Given the description of an element on the screen output the (x, y) to click on. 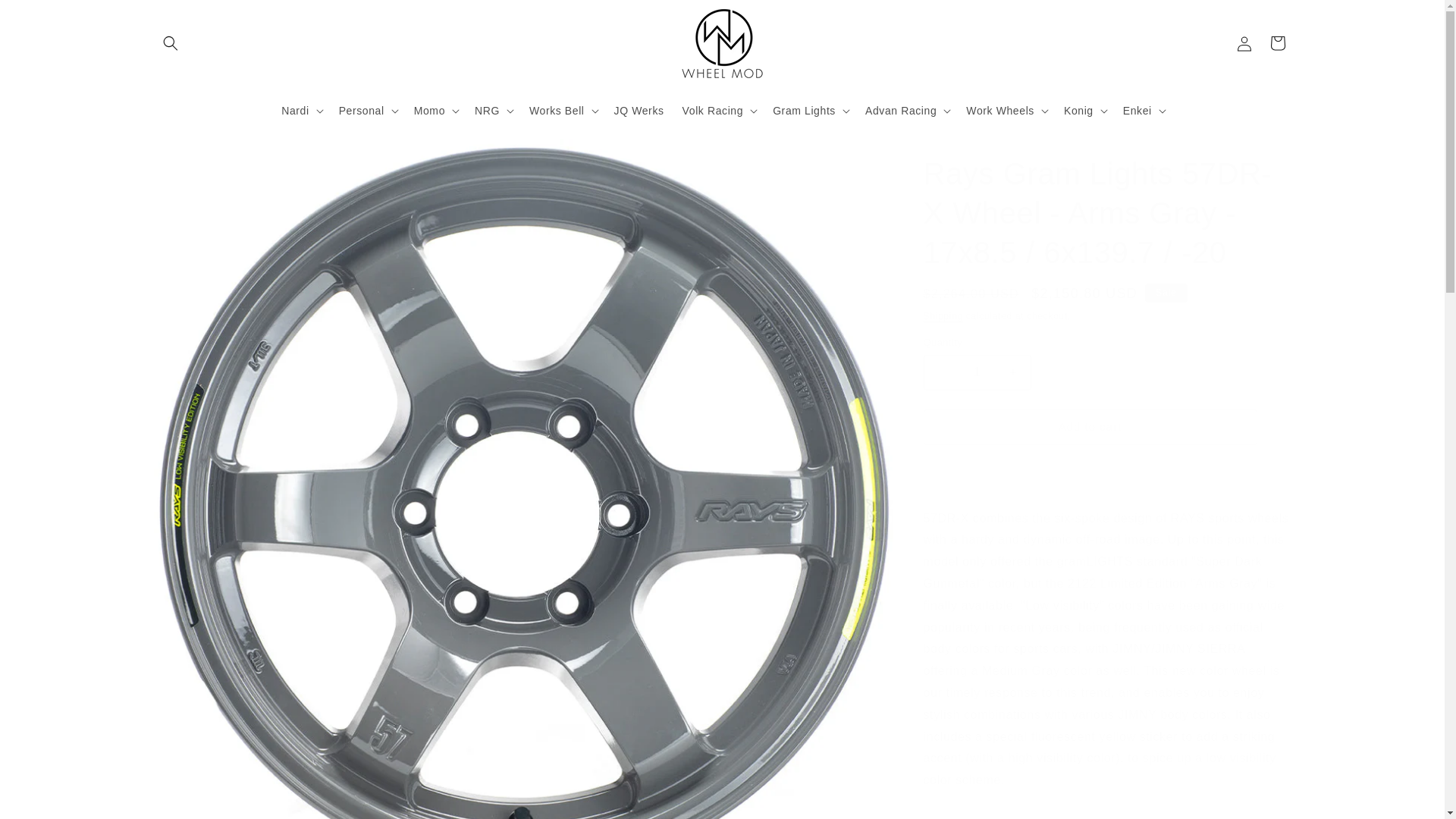
1 (976, 372)
Skip to content (45, 17)
